Given the description of an element on the screen output the (x, y) to click on. 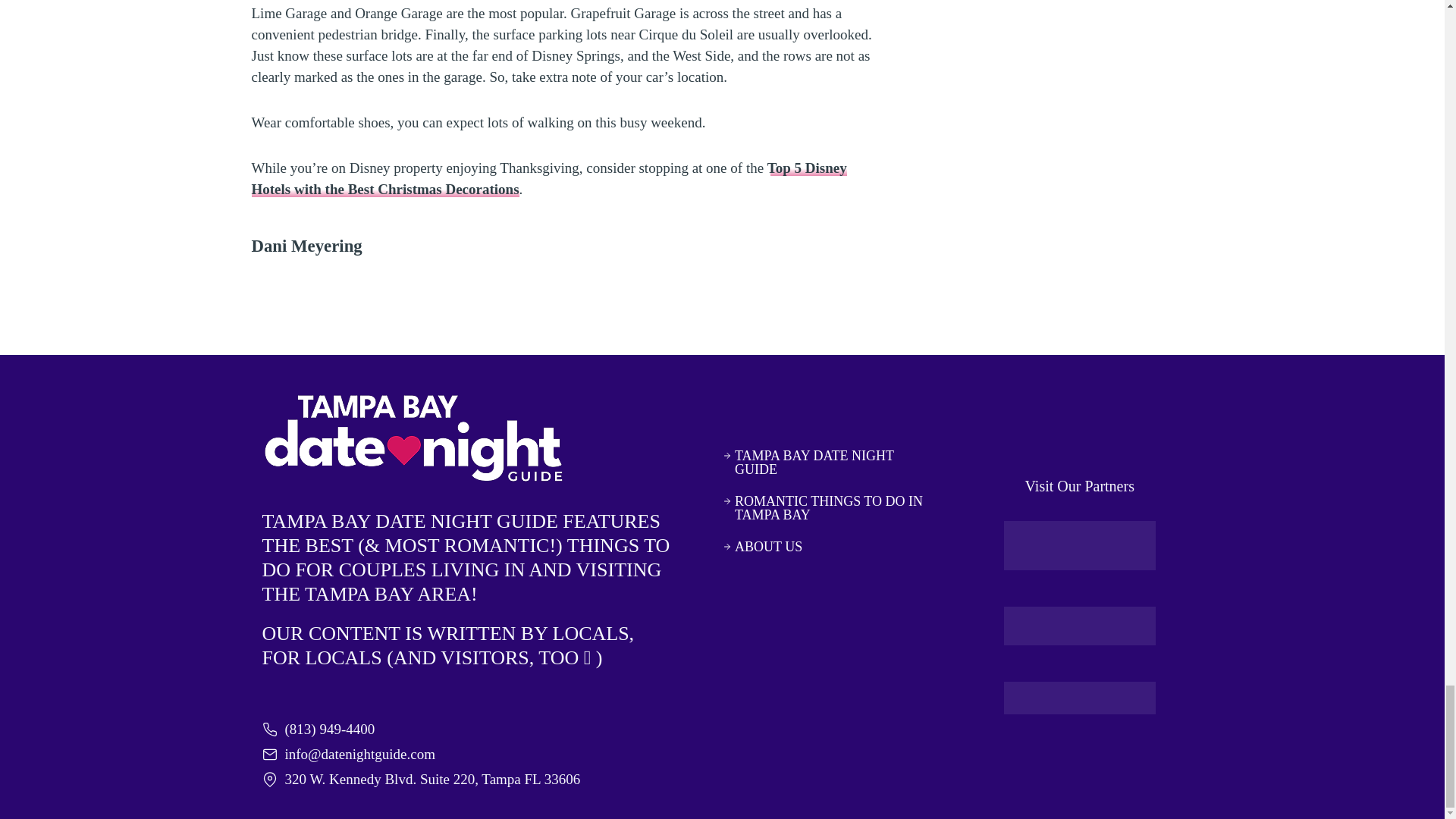
TAMPA BAY DATE NIGHT GUIDE (825, 461)
Dani Meyering (306, 245)
Link to Orlando Parenting's website, orlando-parenting.com (1080, 625)
Top 5 Disney Hotels with the Best Christmas Decorations (549, 178)
Link to Tampa Bay Parenting's website,  (1080, 697)
ABOUT US (825, 546)
ROMANTIC THINGS TO DO IN TAMPA BAY (825, 507)
Link to Orlando Date Night Guide's website (1080, 545)
Posts by Dani Meyering (306, 245)
